Given the description of an element on the screen output the (x, y) to click on. 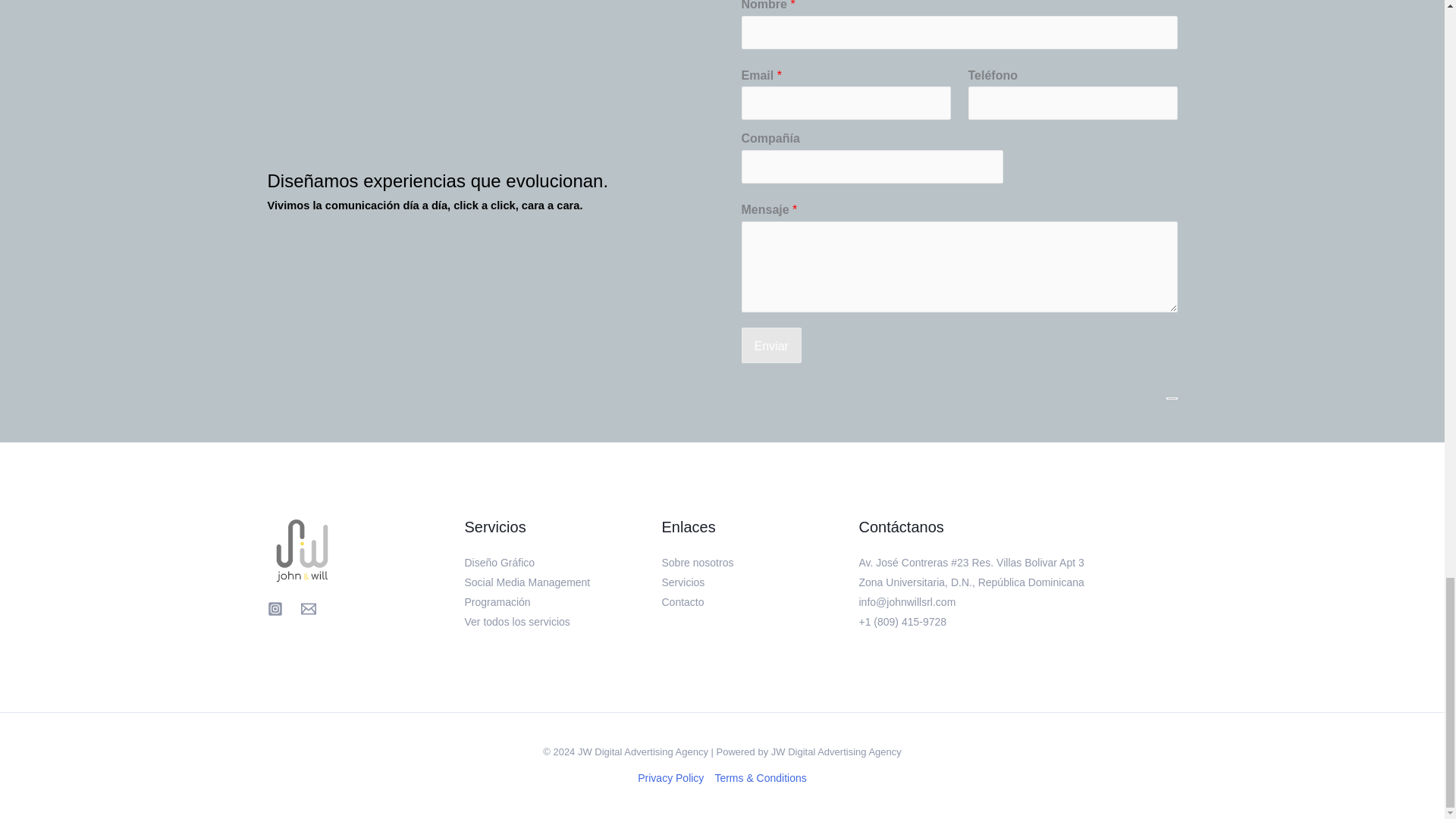
info rtp slot gacor (804, 543)
agen slot300 (793, 611)
daftar slot88 (791, 475)
judi slot online pulsa (812, 498)
situs panen77 (796, 408)
keluaran togel hari ini (815, 565)
situs slot online (799, 768)
poker online terpercaya (821, 746)
daftar panengg (799, 588)
rtp slot online (793, 678)
s77 resmi (784, 453)
slot deposit pulsa (804, 723)
situs b88 (782, 633)
b88 slot (779, 431)
judi slot gacor online (813, 700)
